Given the description of an element on the screen output the (x, y) to click on. 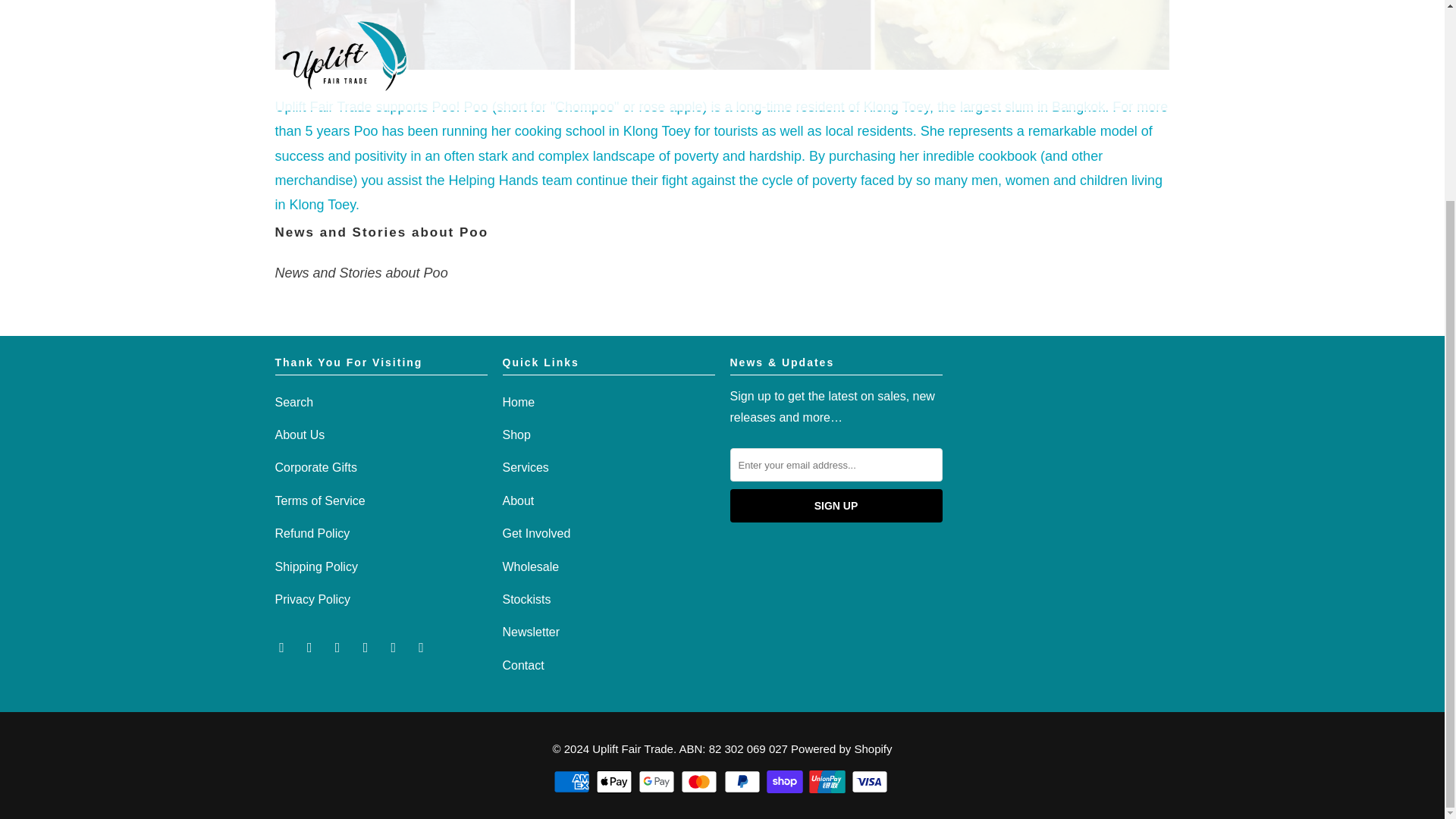
Google Pay (658, 781)
Union Pay (828, 781)
Mastercard (700, 781)
Uplift Fair Trade on Instagram (395, 646)
PayPal (742, 781)
Uplift Fair Trade on Pinterest (338, 646)
Uplift Fair Trade on Facebook (283, 646)
Shop Pay (786, 781)
Apple Pay (614, 781)
American Express (572, 781)
Email Uplift Fair Trade (421, 646)
Uplift Fair Trade on LinkedIn (366, 646)
Sign Up (835, 505)
Uplift Fair Trade on YouTube (310, 646)
Visa (871, 781)
